Given the description of an element on the screen output the (x, y) to click on. 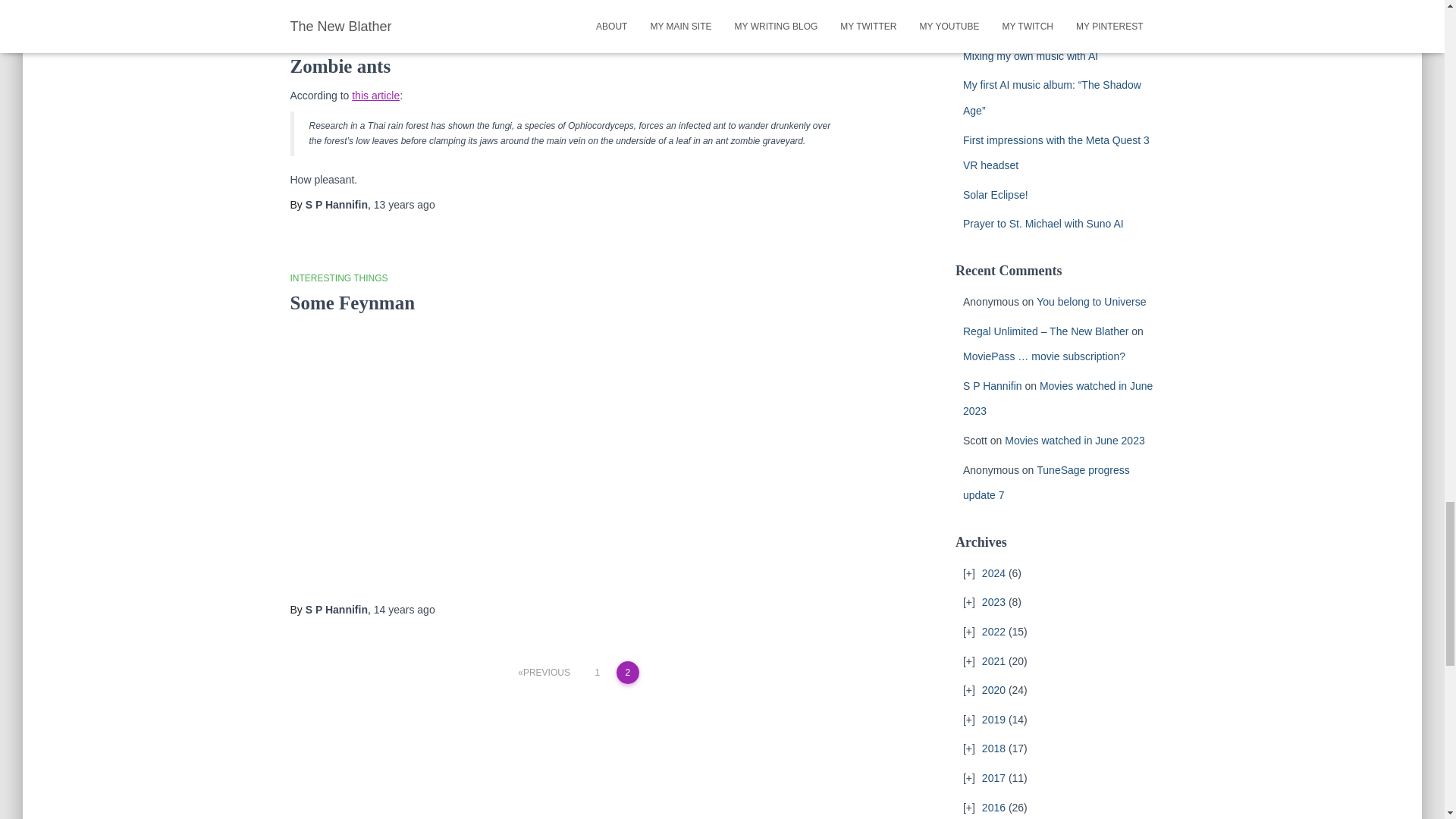
Some Feynman (351, 302)
14 years ago (404, 609)
S P Hannifin (336, 204)
S P Hannifin (336, 609)
INTERESTING THINGS (338, 277)
PREVIOUS (543, 671)
this article (375, 95)
13 years ago (404, 204)
Zombie ants (339, 66)
INTERESTING THINGS (338, 40)
